Given the description of an element on the screen output the (x, y) to click on. 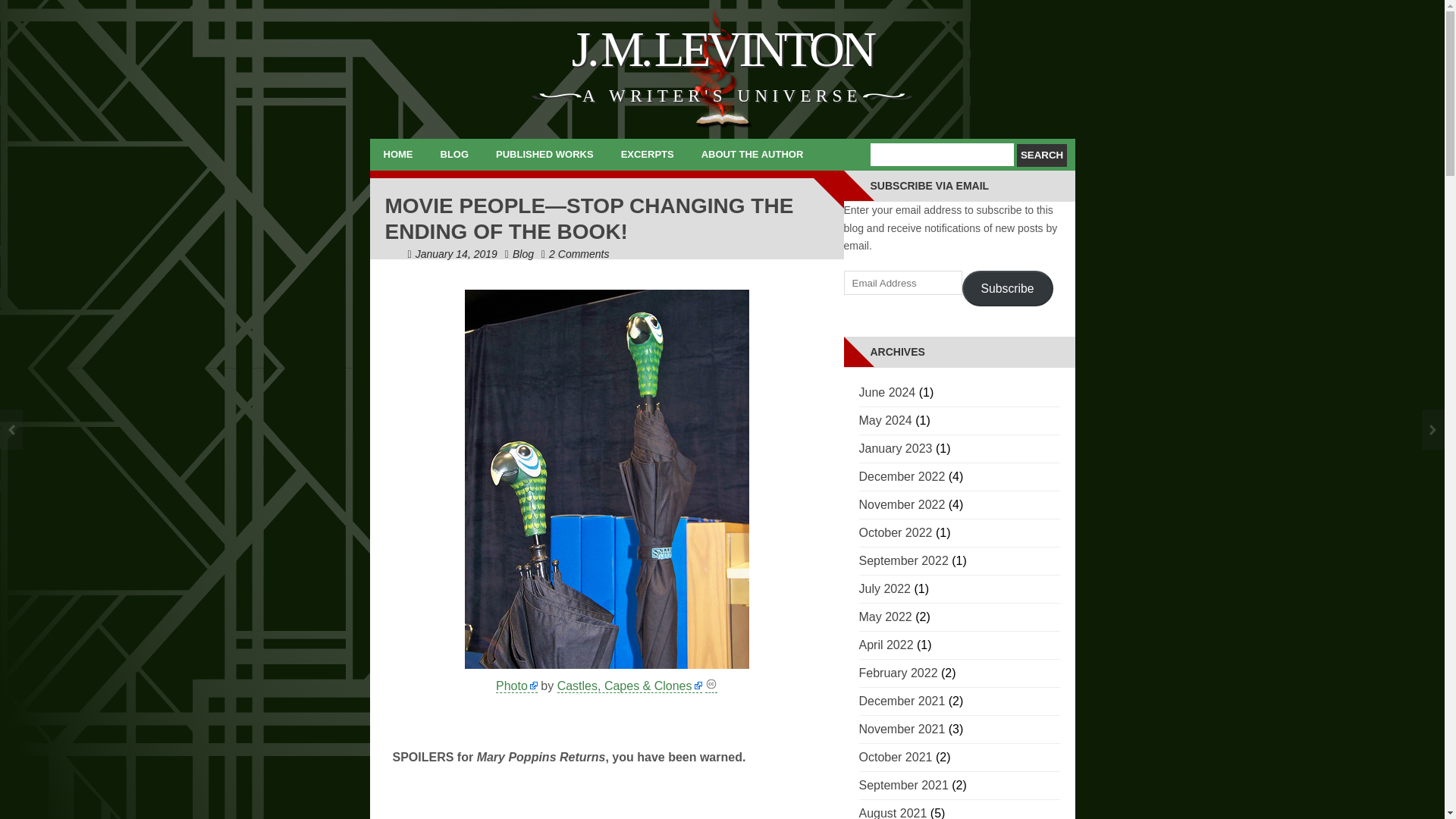
June 2024 (887, 391)
Search (1041, 155)
January 2023 (895, 448)
HOME (397, 154)
Blog (523, 254)
September 2022 (903, 560)
September 2021 (903, 784)
EXCERPTS (647, 154)
December 2021 (901, 700)
February 2022 (898, 672)
July 2022 (885, 588)
Image inserted by the ImageInject WordPress plugin (516, 685)
November 2021 (901, 728)
April 2022 (885, 644)
ABOUT THE AUTHOR (751, 154)
